Given the description of an element on the screen output the (x, y) to click on. 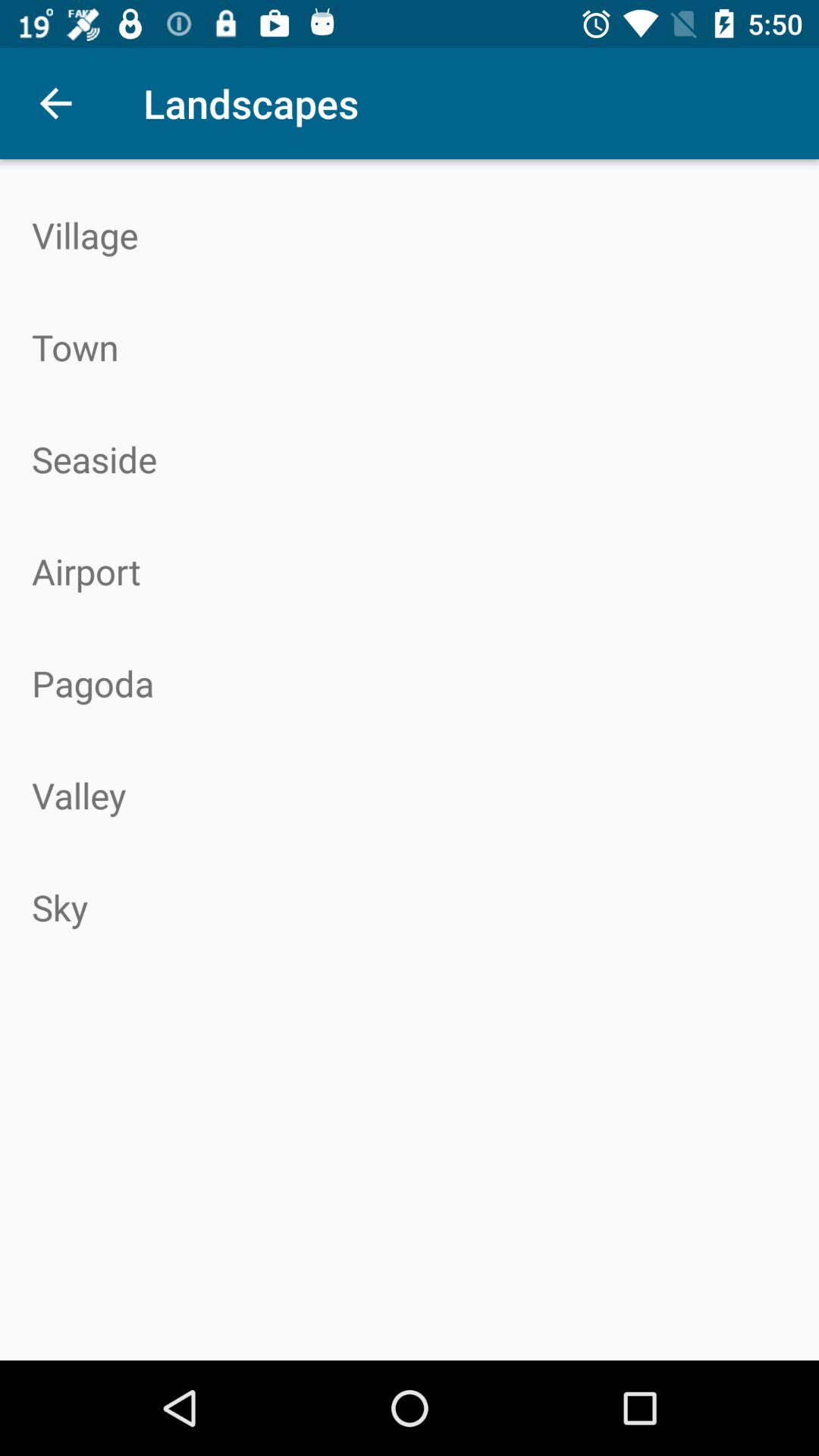
choose item below town (409, 459)
